Given the description of an element on the screen output the (x, y) to click on. 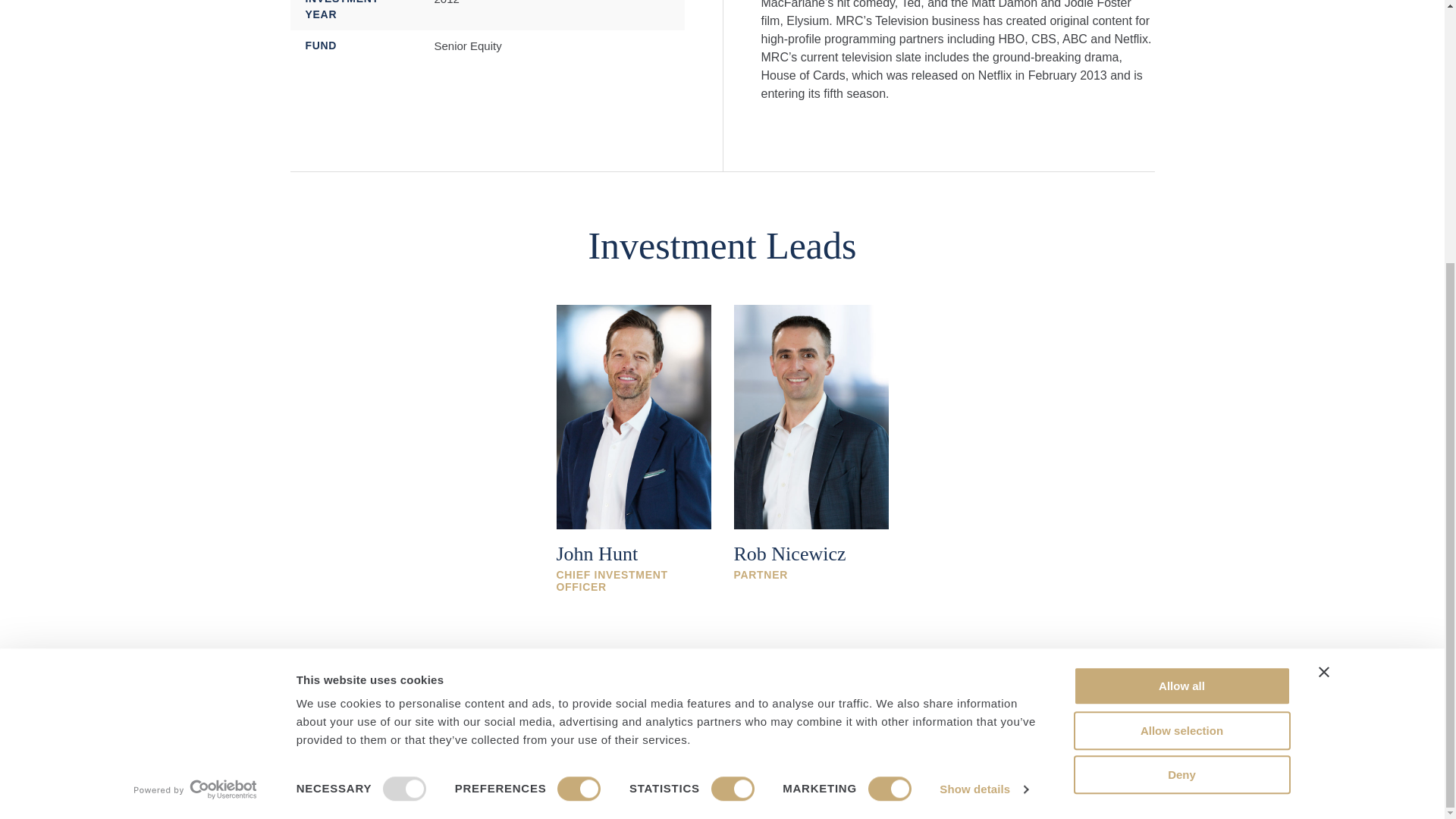
Deny (1182, 395)
Website Design by Jackrabbit (1094, 791)
Show details (983, 410)
Allow all (1182, 307)
Allow selection (1182, 351)
